Given the description of an element on the screen output the (x, y) to click on. 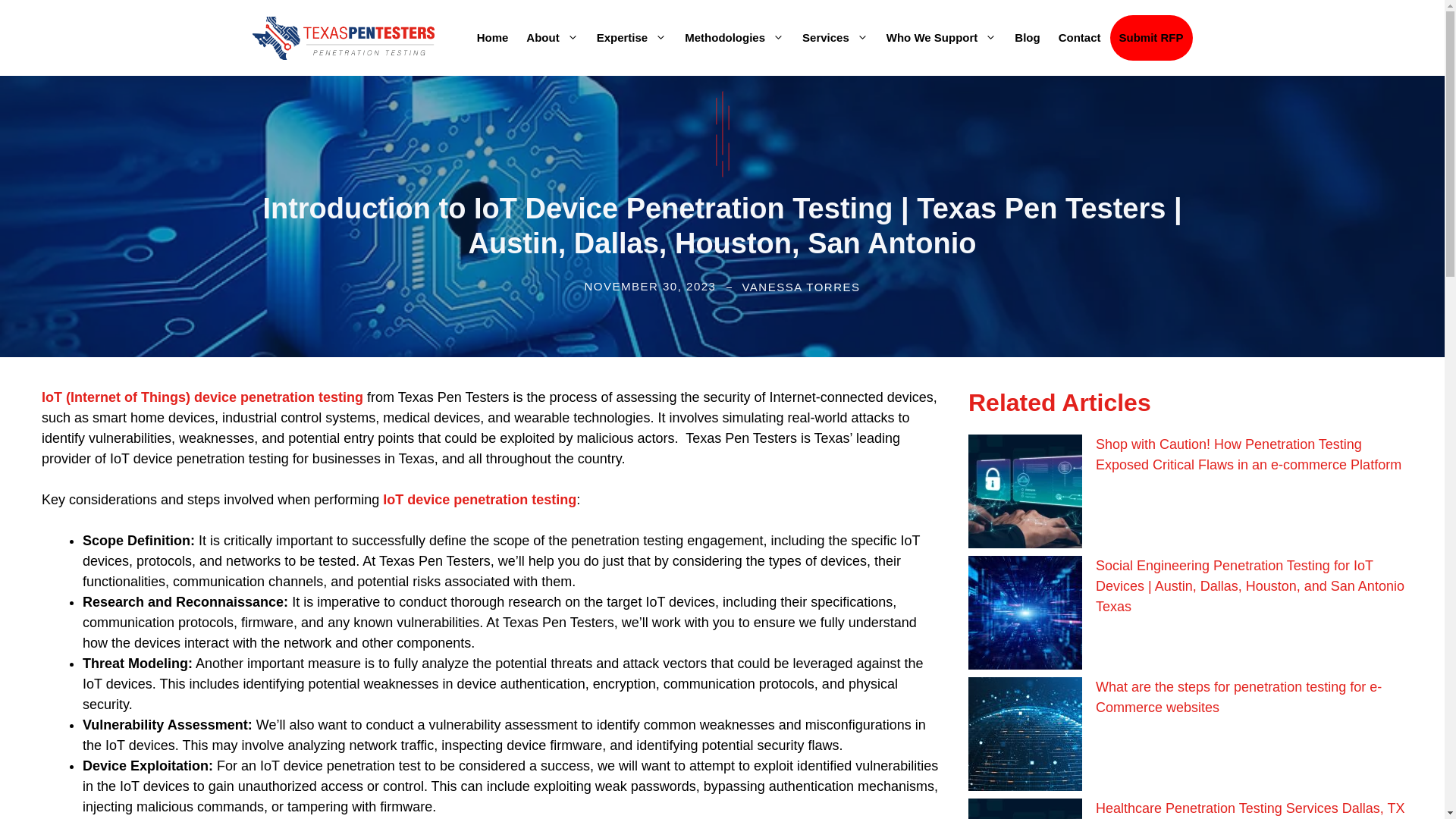
Services (835, 37)
About (551, 37)
Expertise (632, 37)
Methodologies (734, 37)
Who We Support (941, 37)
Blog (1027, 37)
Home (492, 37)
